Given the description of an element on the screen output the (x, y) to click on. 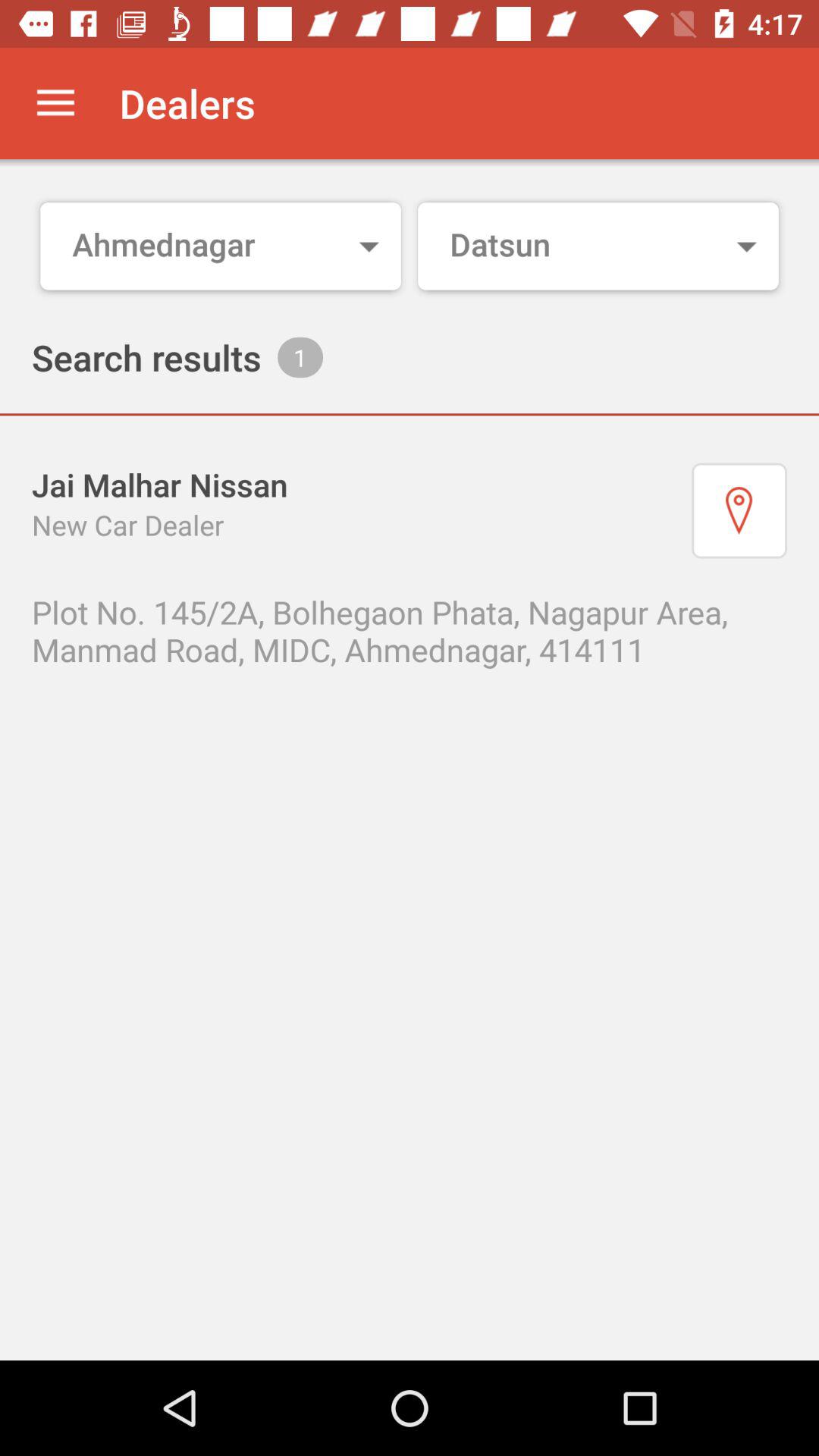
show the location on google map (739, 510)
